Given the description of an element on the screen output the (x, y) to click on. 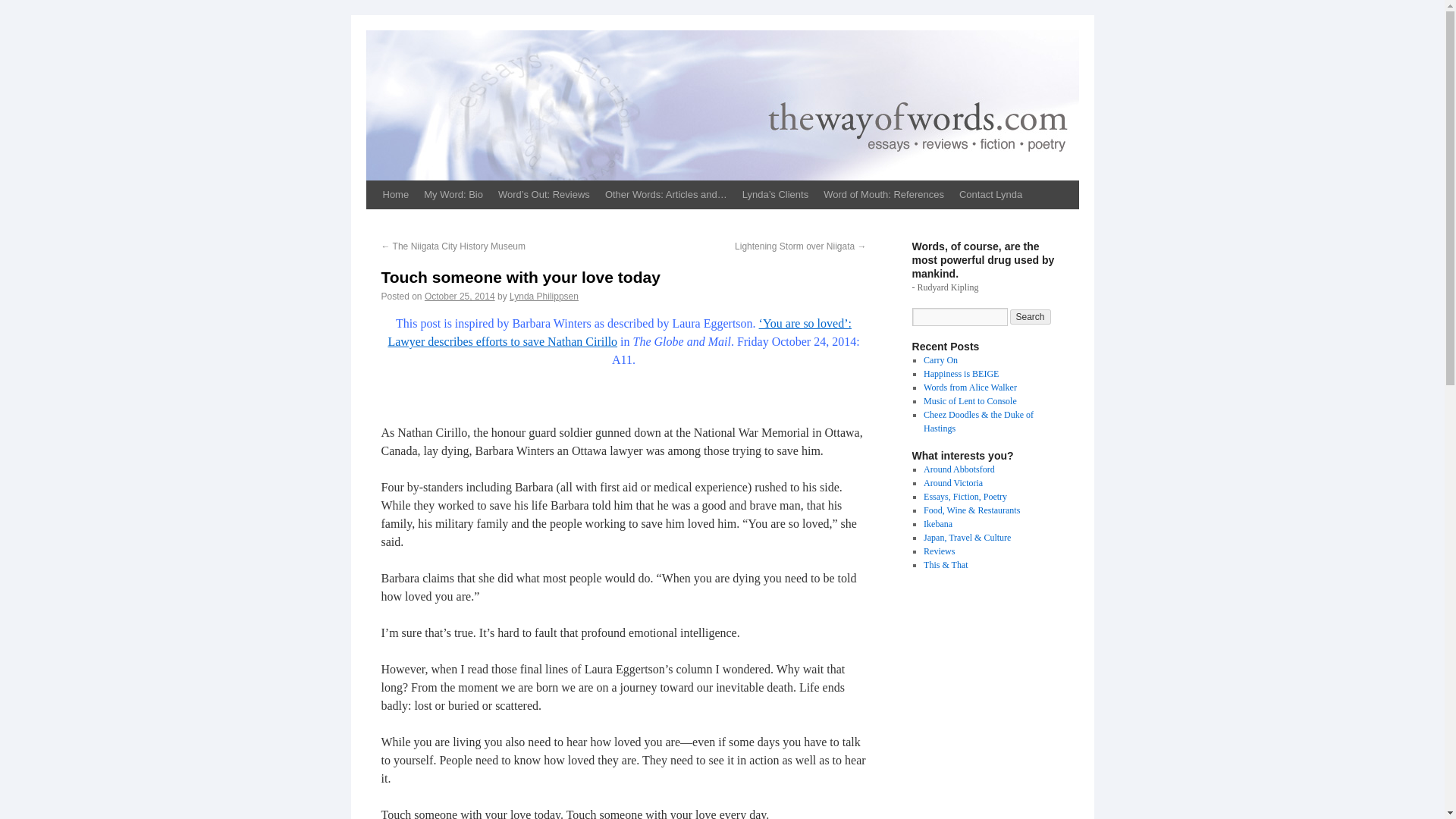
Lynda Philippsen (543, 296)
Around Victoria (952, 482)
Contact Lynda (990, 194)
Home (395, 194)
October 25, 2014 (460, 296)
Words from Alice Walker (969, 387)
Ikebana (937, 523)
8:40 AM (460, 296)
Reviews (939, 551)
Word of Mouth: References (883, 194)
